Given the description of an element on the screen output the (x, y) to click on. 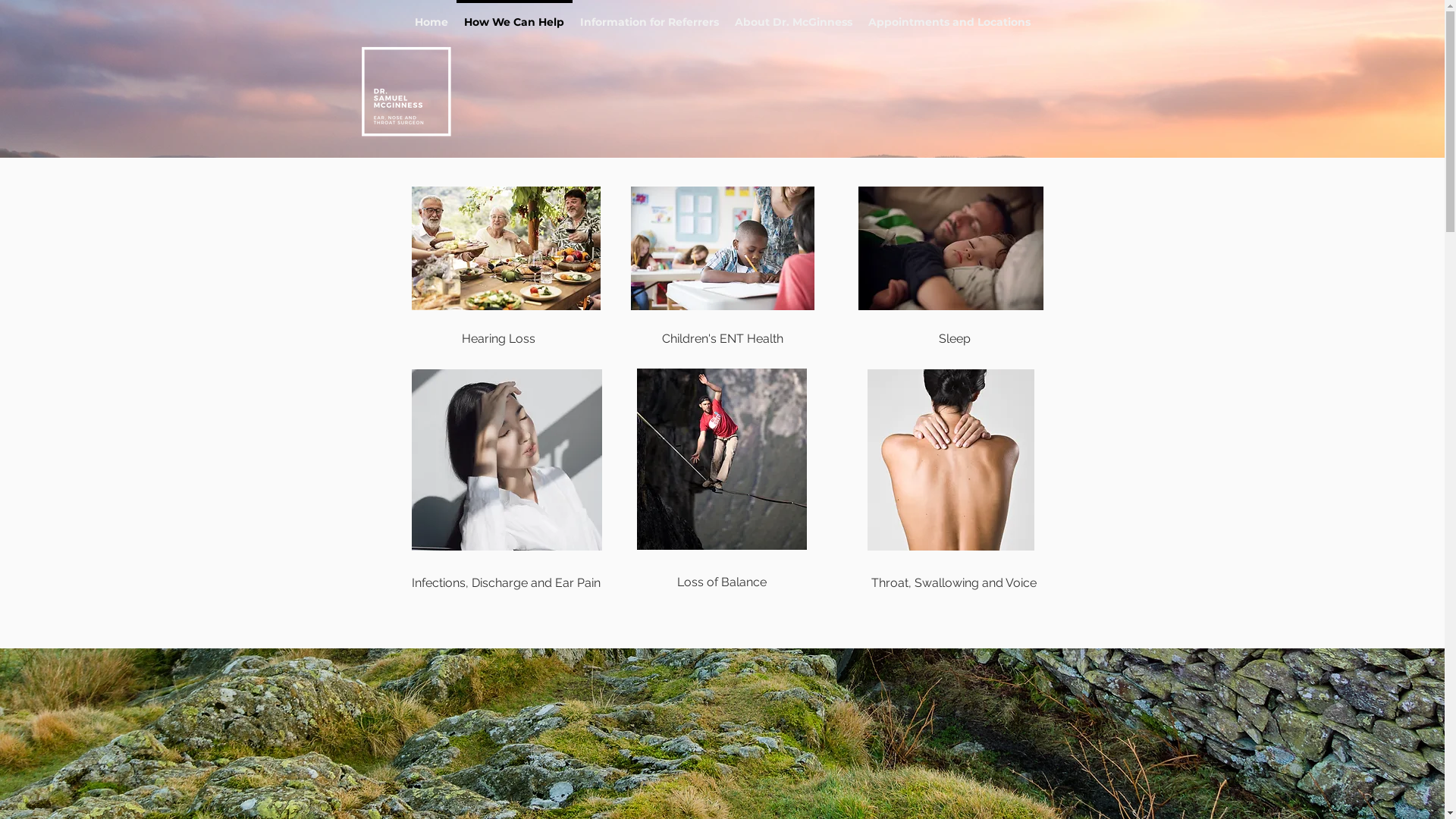
About Dr. McGinness Element type: text (792, 15)
Appointments and Locations Element type: text (948, 15)
Hearing Loss Element type: text (497, 338)
Home Element type: text (431, 15)
Loss of Balance Element type: text (722, 582)
Infections, Discharge and Ear Pain Element type: text (505, 582)
How We Can Help Element type: text (514, 15)
Information for Referrers Element type: text (648, 15)
